Given the description of an element on the screen output the (x, y) to click on. 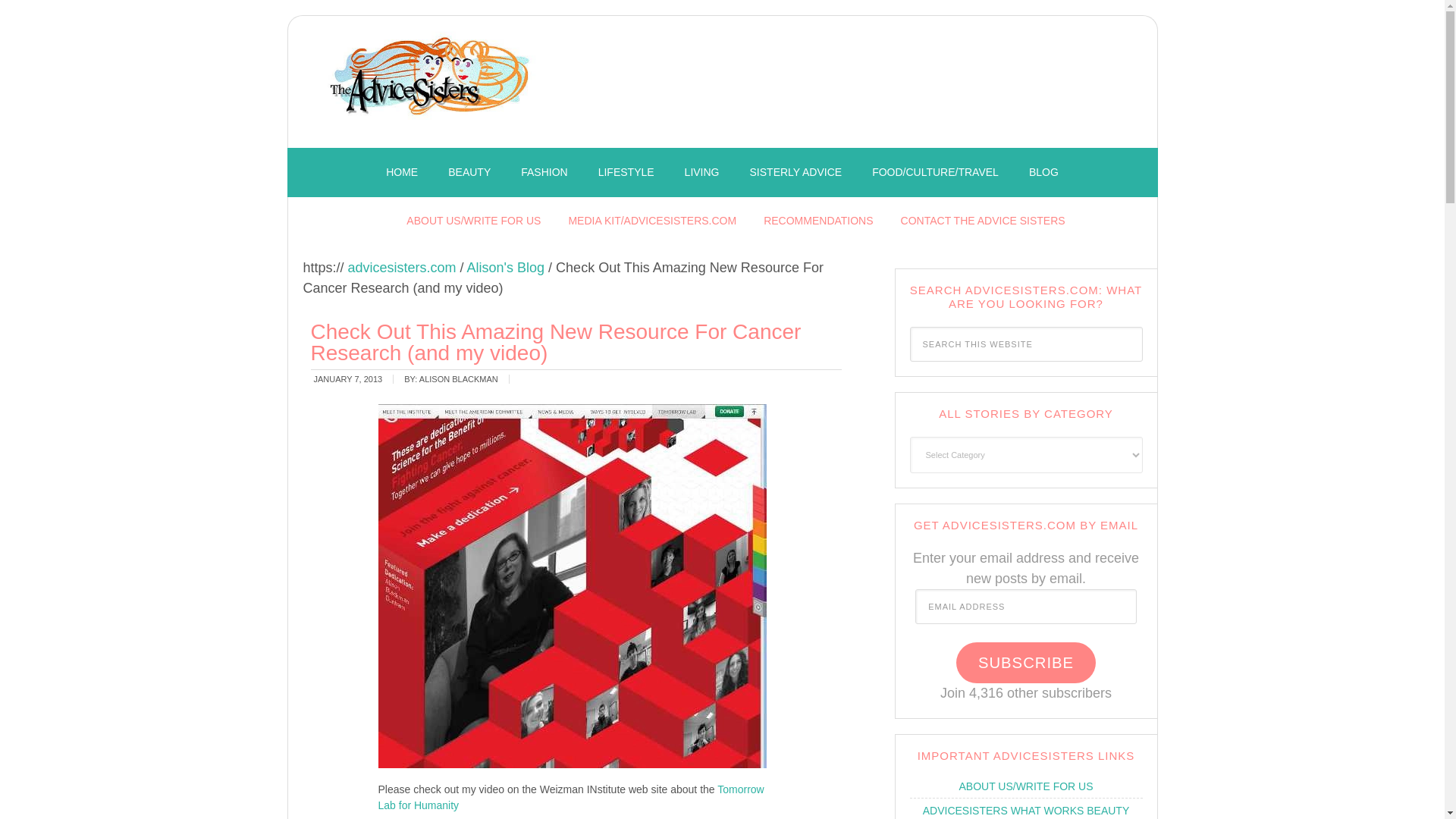
SISTERLY ADVICE (796, 172)
LIFESTYLE (626, 172)
BEAUTY (468, 172)
Contact (982, 220)
advicesisters.com Has Ideas for life, love and happiness (432, 85)
HOME (401, 172)
FASHION (543, 172)
RECOMMENDATIONS (817, 220)
HOME (401, 172)
LIVING (702, 172)
BLOG (1043, 172)
